Given the description of an element on the screen output the (x, y) to click on. 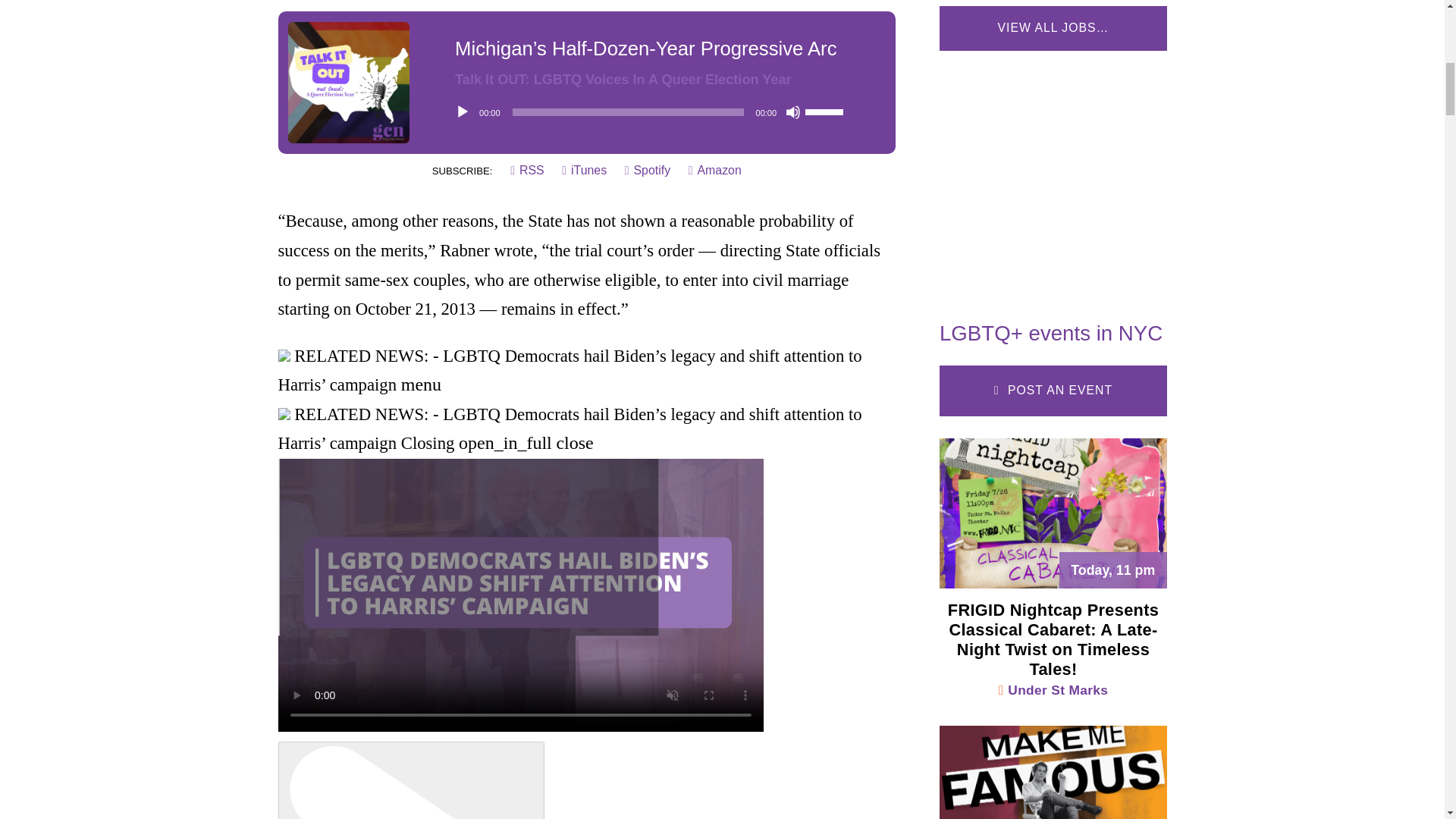
Play (462, 111)
Mute (793, 111)
